Given the description of an element on the screen output the (x, y) to click on. 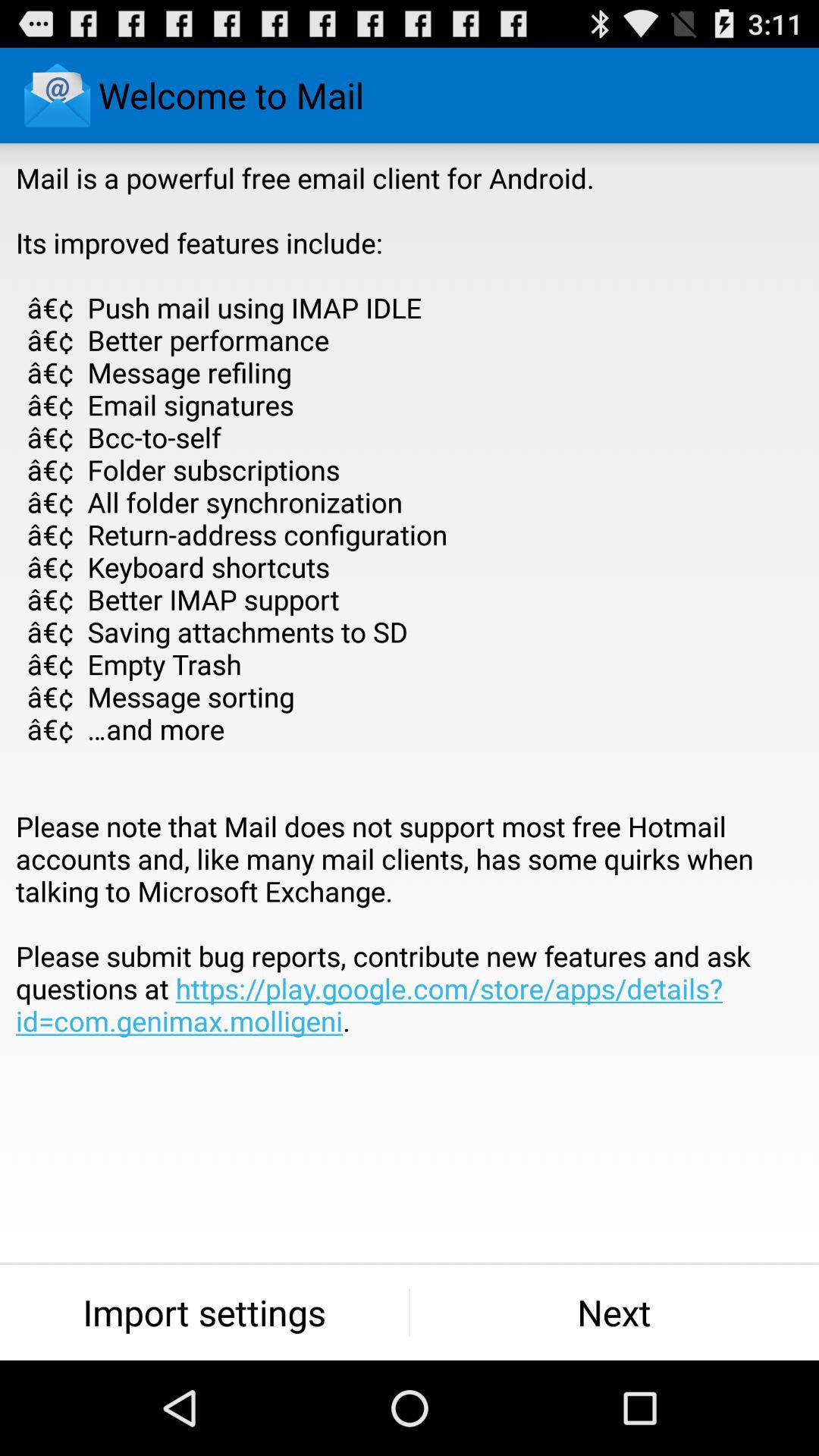
scroll until mail is a app (409, 631)
